Given the description of an element on the screen output the (x, y) to click on. 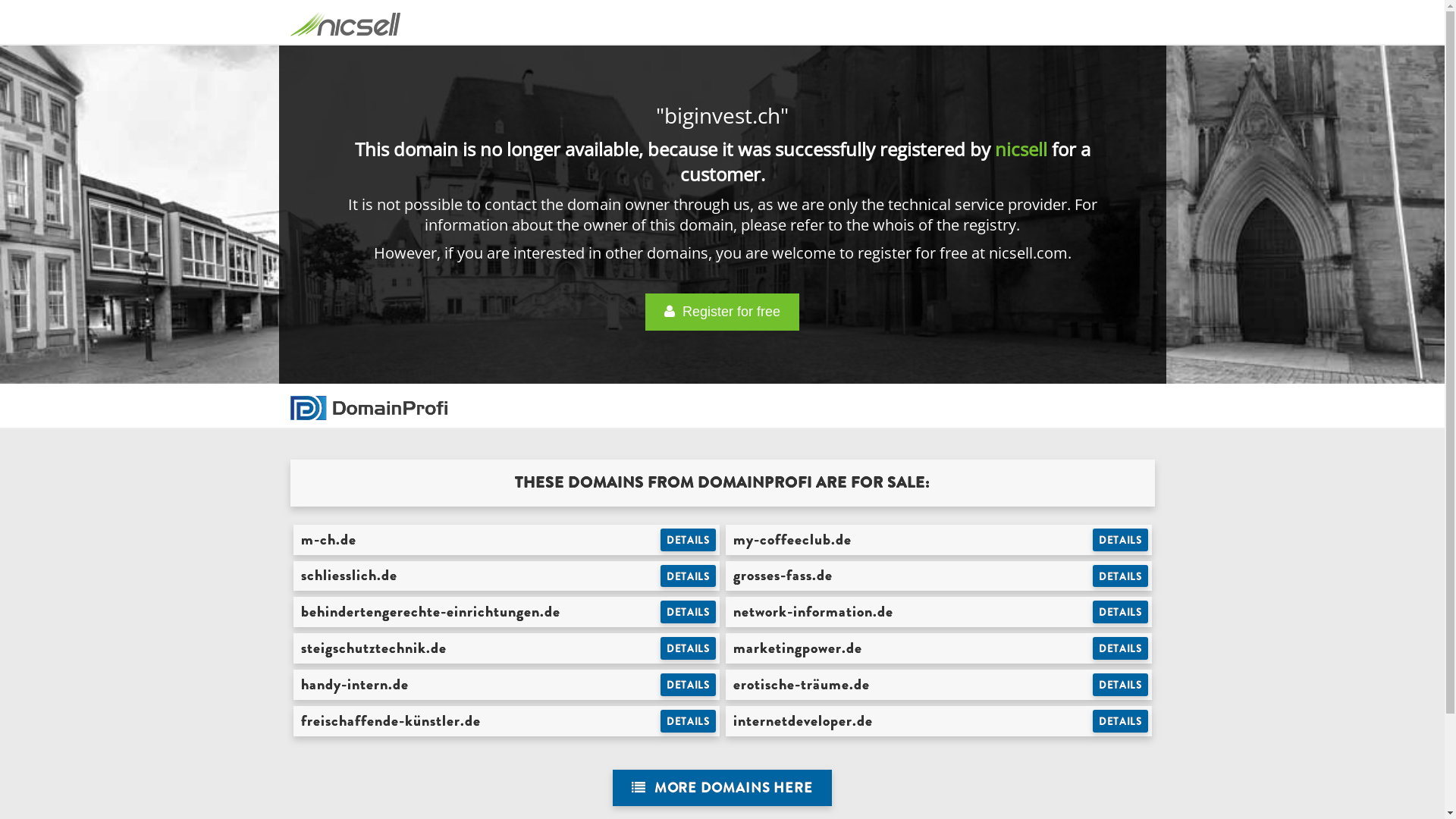
DETAILS Element type: text (687, 648)
DETAILS Element type: text (687, 611)
DETAILS Element type: text (687, 720)
DETAILS Element type: text (1120, 648)
DETAILS Element type: text (1120, 575)
DETAILS Element type: text (1120, 720)
DETAILS Element type: text (1120, 539)
nicsell Element type: text (1020, 148)
  Register for free Element type: text (722, 311)
DETAILS Element type: text (687, 539)
DETAILS Element type: text (1120, 611)
DETAILS Element type: text (1120, 684)
DETAILS Element type: text (687, 684)
  MORE DOMAINS HERE Element type: text (721, 787)
DETAILS Element type: text (687, 575)
